Given the description of an element on the screen output the (x, y) to click on. 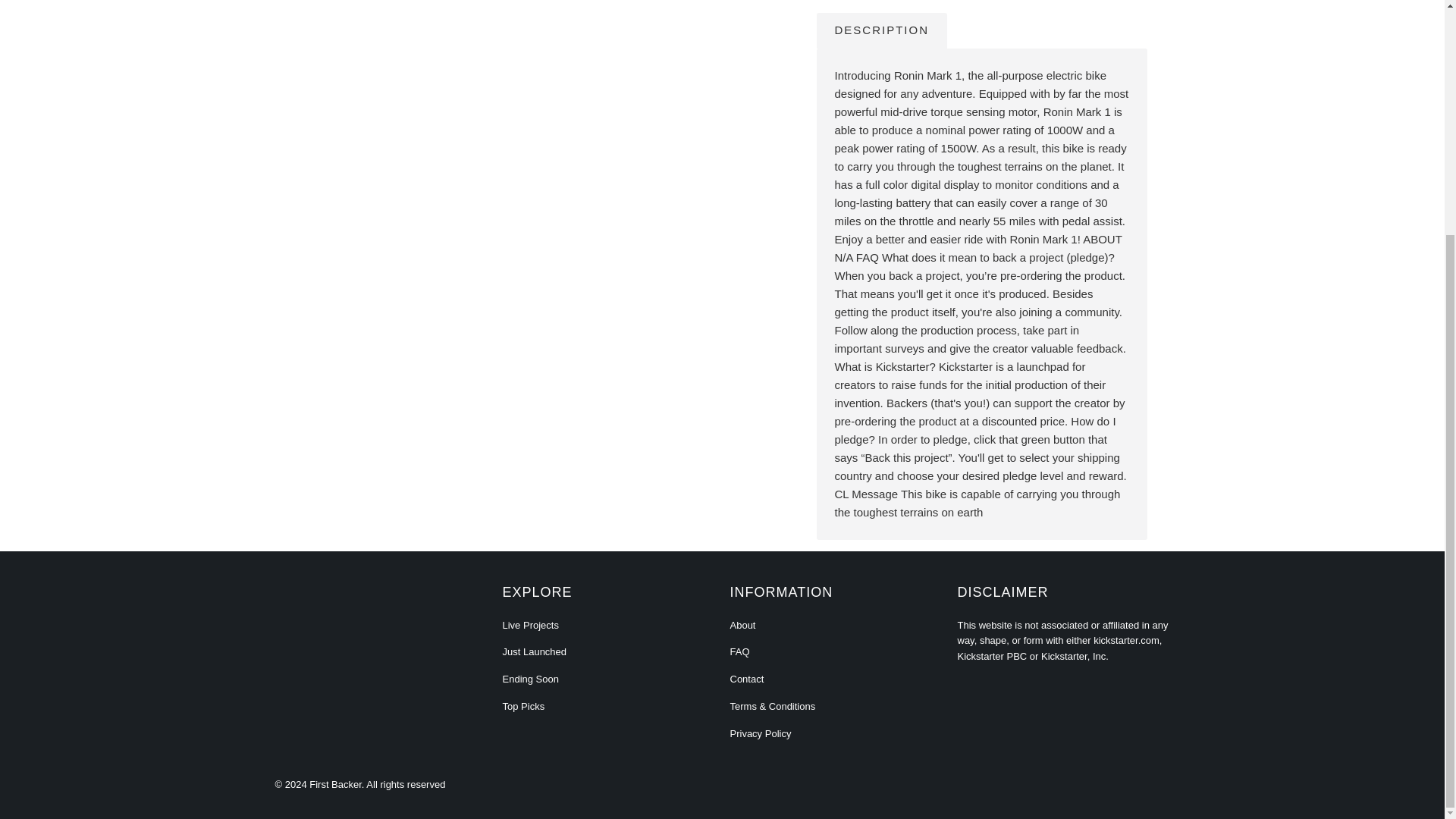
First Backer (334, 784)
Just Launched (534, 651)
Ending Soon (529, 678)
About (742, 624)
Live Projects (529, 624)
Top Picks (523, 706)
Privacy Policy (759, 733)
FAQ (739, 651)
kickstarter.com (1125, 640)
Contact (745, 678)
